Given the description of an element on the screen output the (x, y) to click on. 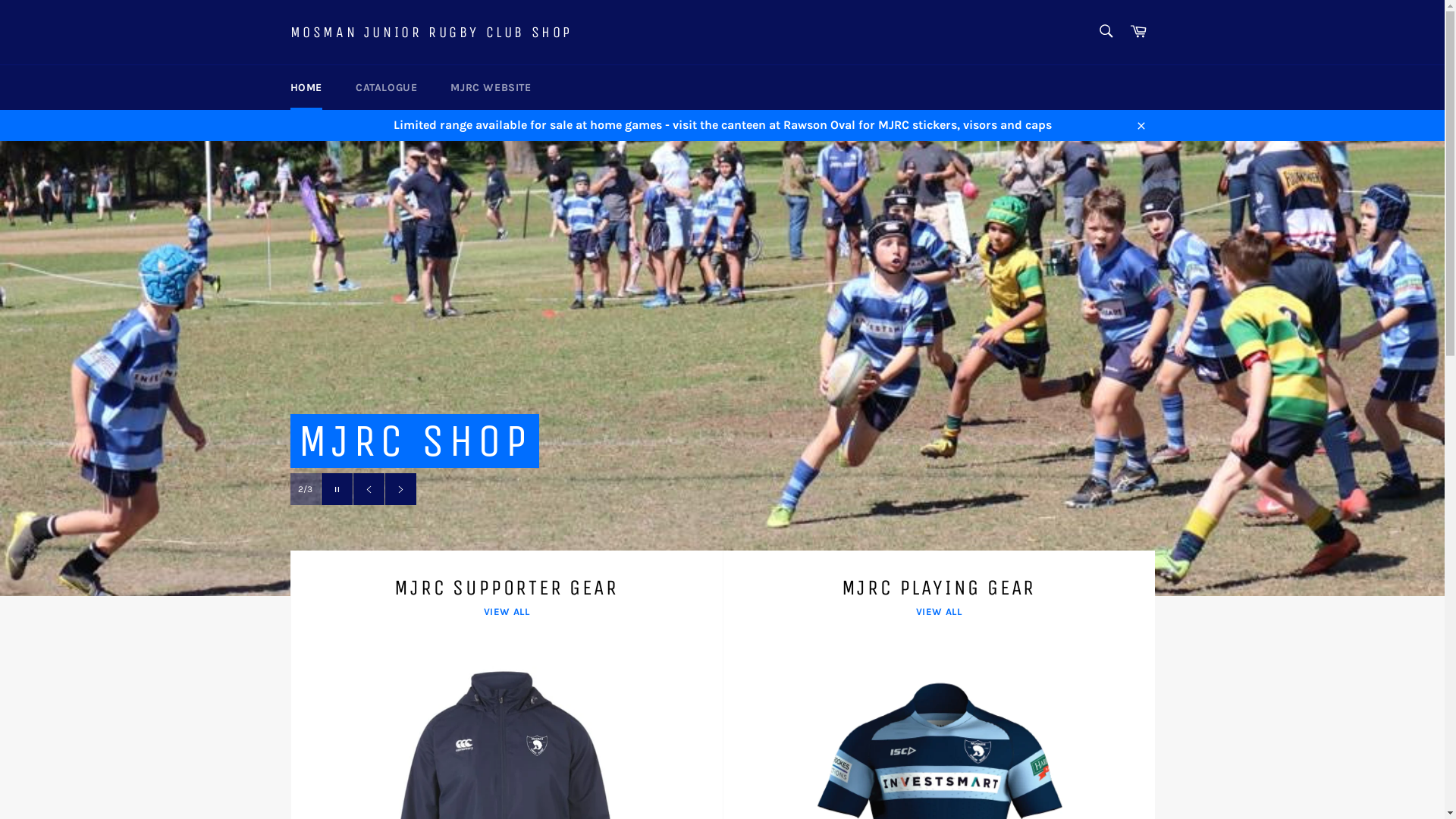
CATALOGUE Element type: text (386, 87)
Search Element type: text (1105, 31)
Cart Element type: text (1138, 32)
Pause slideshow Element type: text (336, 490)
HOME Element type: text (305, 87)
Close Element type: text (1139, 125)
Previous slide Element type: text (368, 490)
MOSMAN JUNIOR RUGBY CLUB SHOP Element type: text (430, 32)
MJRC WEBSITE Element type: text (490, 87)
Next slide Element type: text (400, 490)
